Given the description of an element on the screen output the (x, y) to click on. 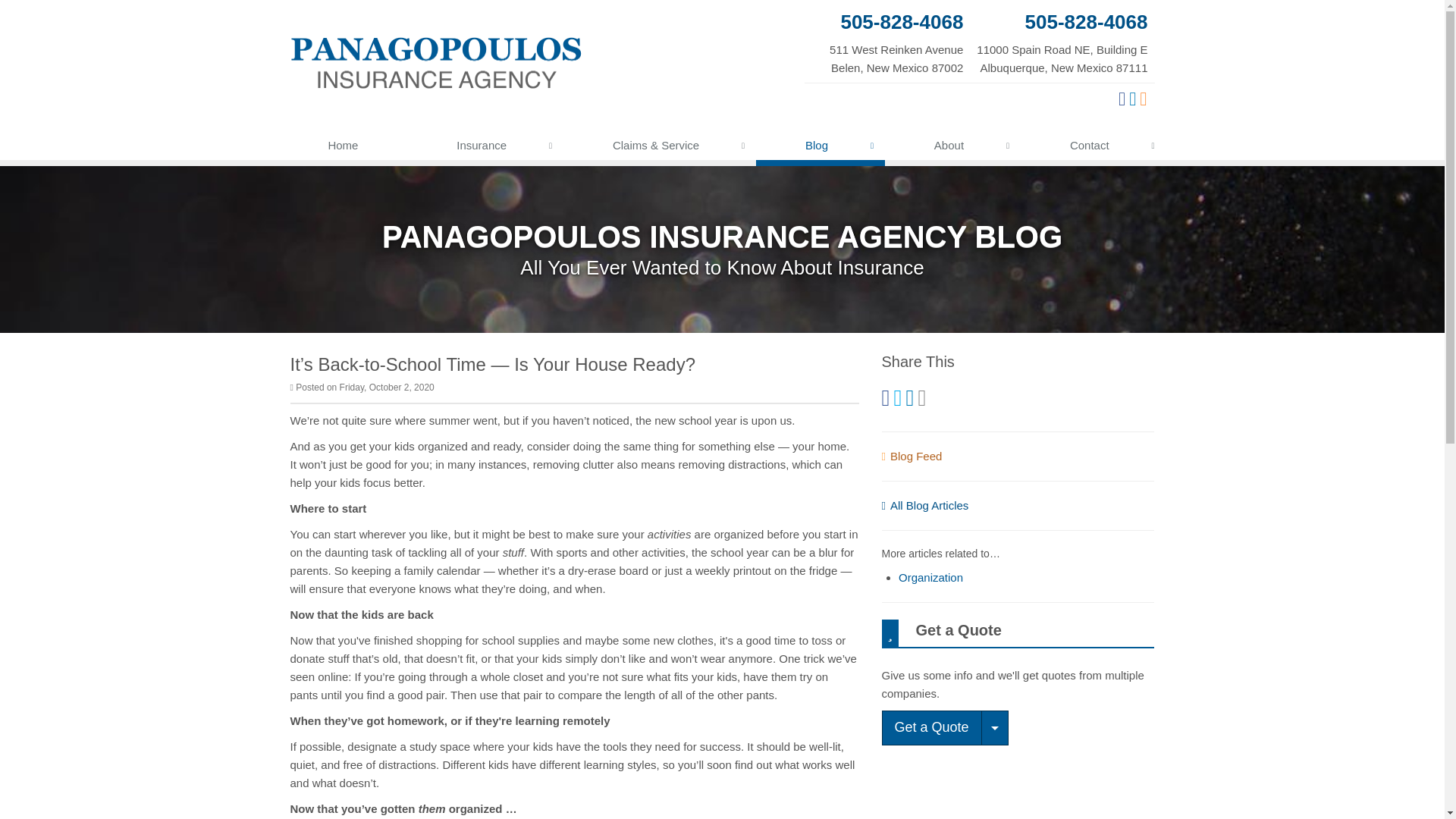
505-828-4068 (887, 22)
Home (343, 148)
Insurance (887, 42)
505-828-4068 (485, 148)
